Given the description of an element on the screen output the (x, y) to click on. 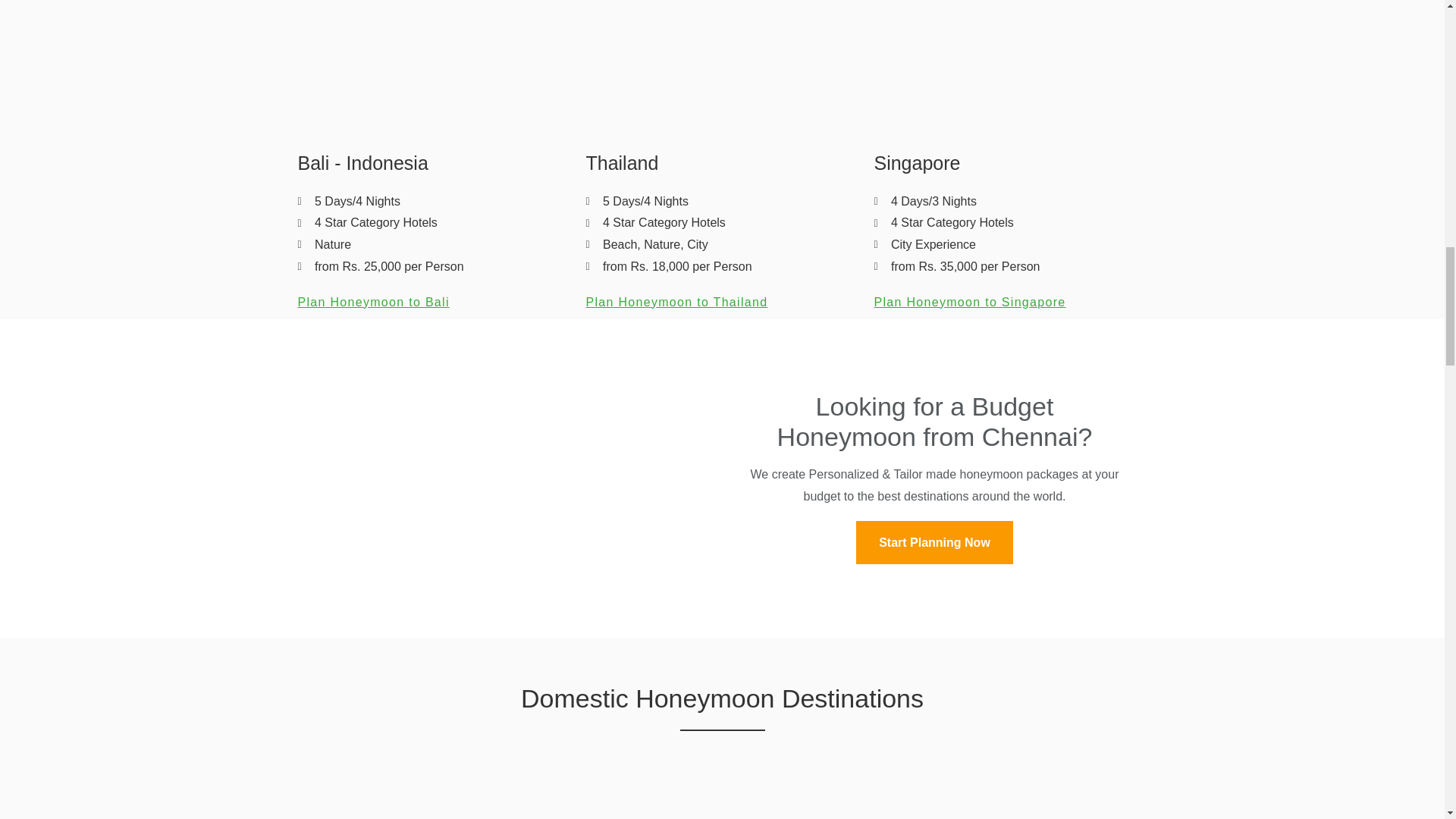
Plan Honeymoon to Singapore (969, 301)
Start Planning Now (934, 542)
Home 37 (722, 67)
Plan Honeymoon to Thailand (676, 301)
Home 36 (433, 67)
Home 38 (1010, 67)
Plan Honeymoon to Bali (372, 301)
Home 40 (722, 797)
Home 39 (433, 797)
Home 41 (1010, 797)
